Given the description of an element on the screen output the (x, y) to click on. 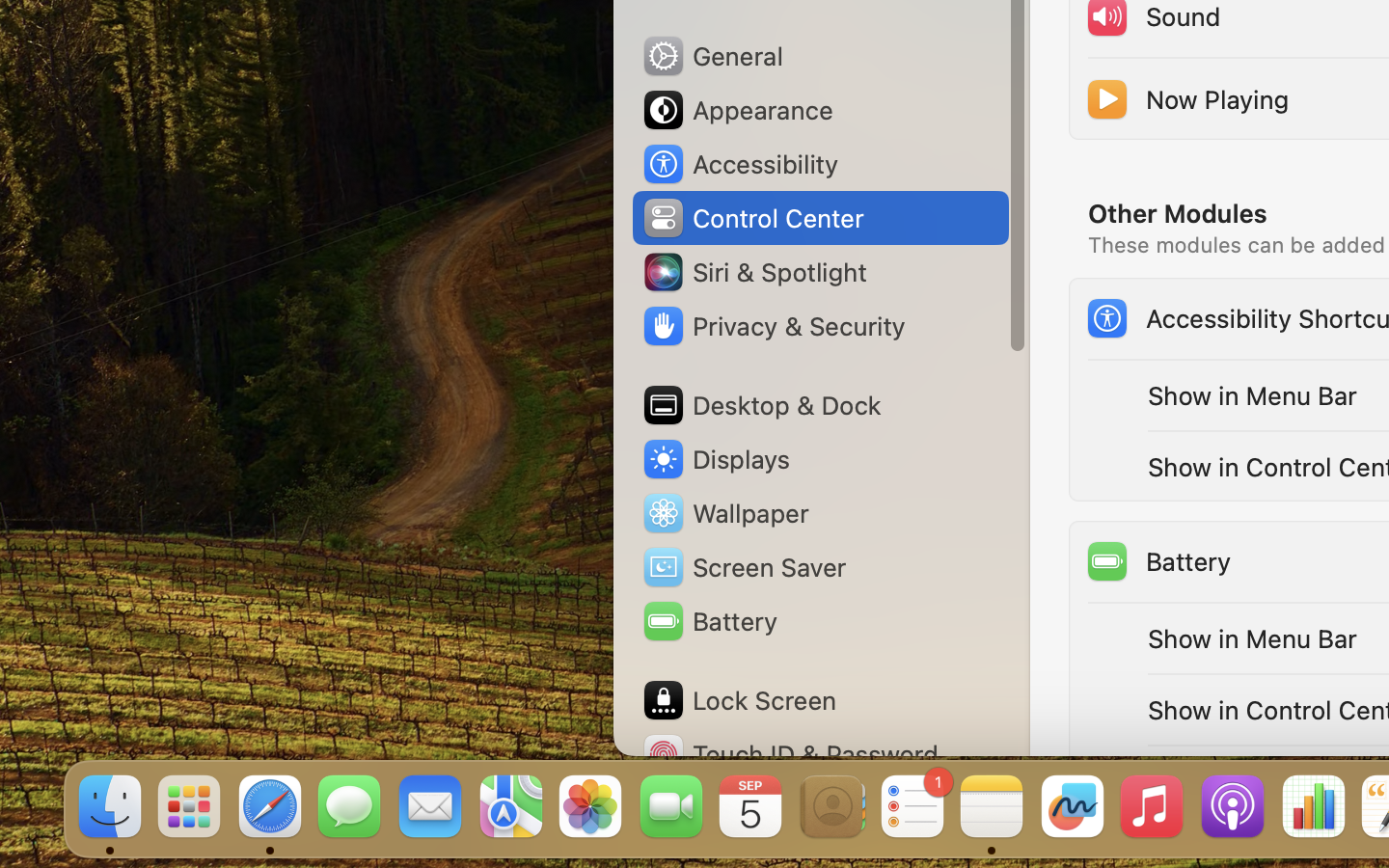
General Element type: AXStaticText (711, 55)
Show in Menu Bar Element type: AXStaticText (1252, 394)
Privacy & Security Element type: AXStaticText (772, 325)
Siri & Spotlight Element type: AXStaticText (753, 271)
Screen Saver Element type: AXStaticText (743, 566)
